Given the description of an element on the screen output the (x, y) to click on. 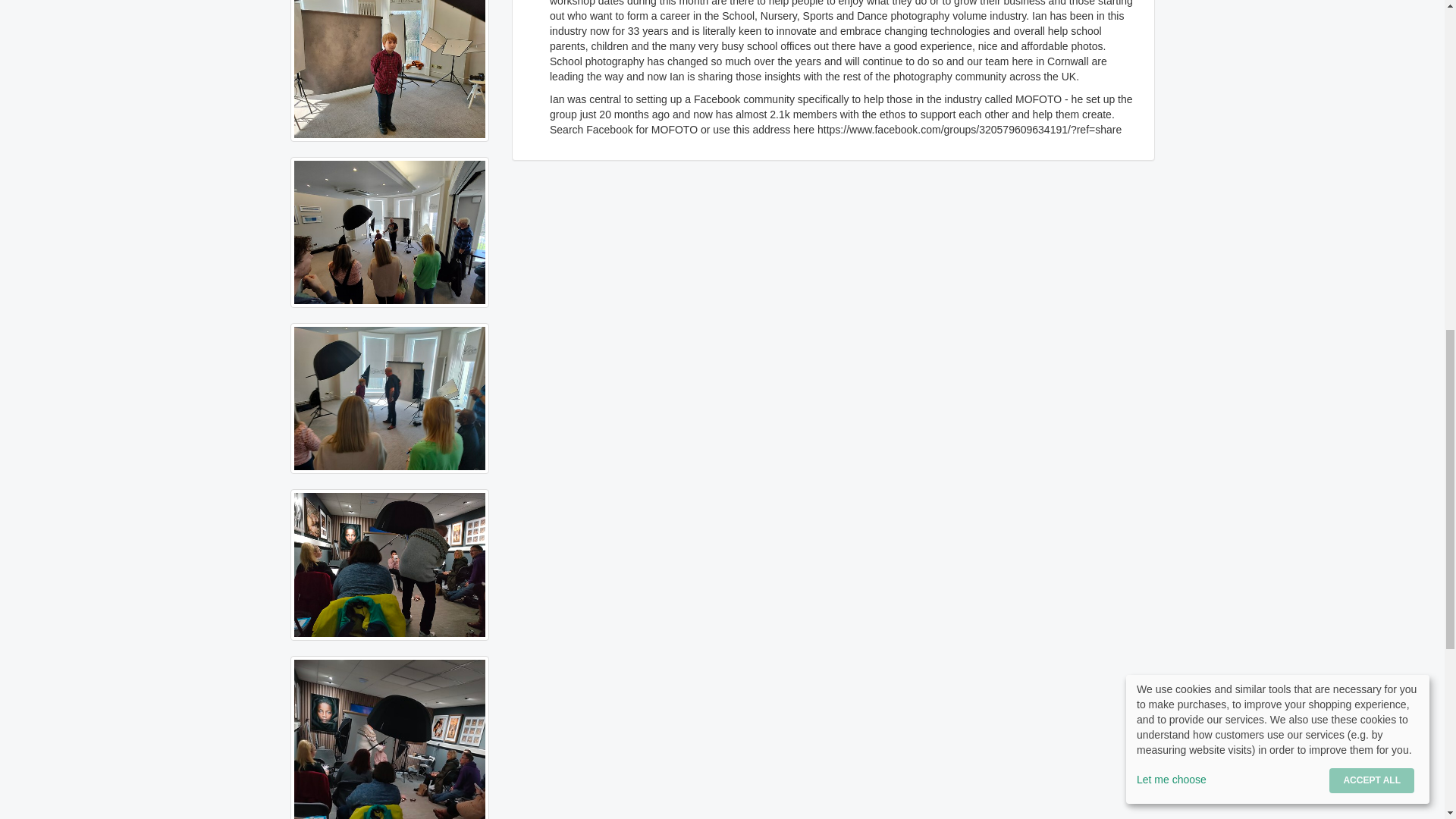
IMG20230216123957 (389, 563)
IMG20230216123913 (389, 737)
IMG20230220115636 (389, 232)
IMG20230220115038 (389, 398)
IMG20230220121400 (389, 70)
